Given the description of an element on the screen output the (x, y) to click on. 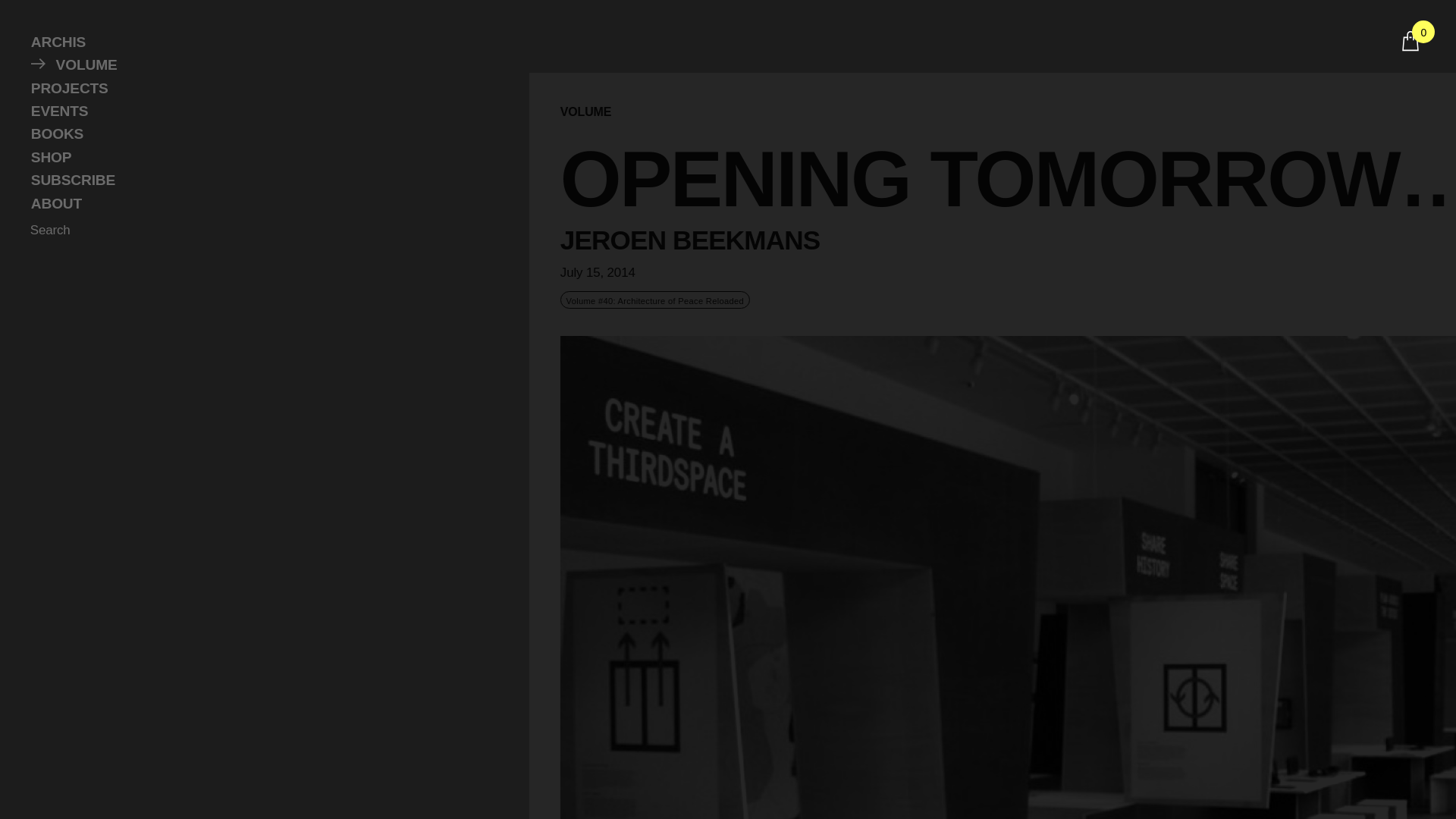
SHOP (258, 157)
EVENTS (258, 111)
VOLUME (585, 112)
ABOUT (258, 203)
ARCHIS (258, 42)
BOOKS (258, 134)
PROJECTS (258, 88)
Search (52, 231)
SUBSCRIBE (258, 180)
VOLUME (258, 65)
